Given the description of an element on the screen output the (x, y) to click on. 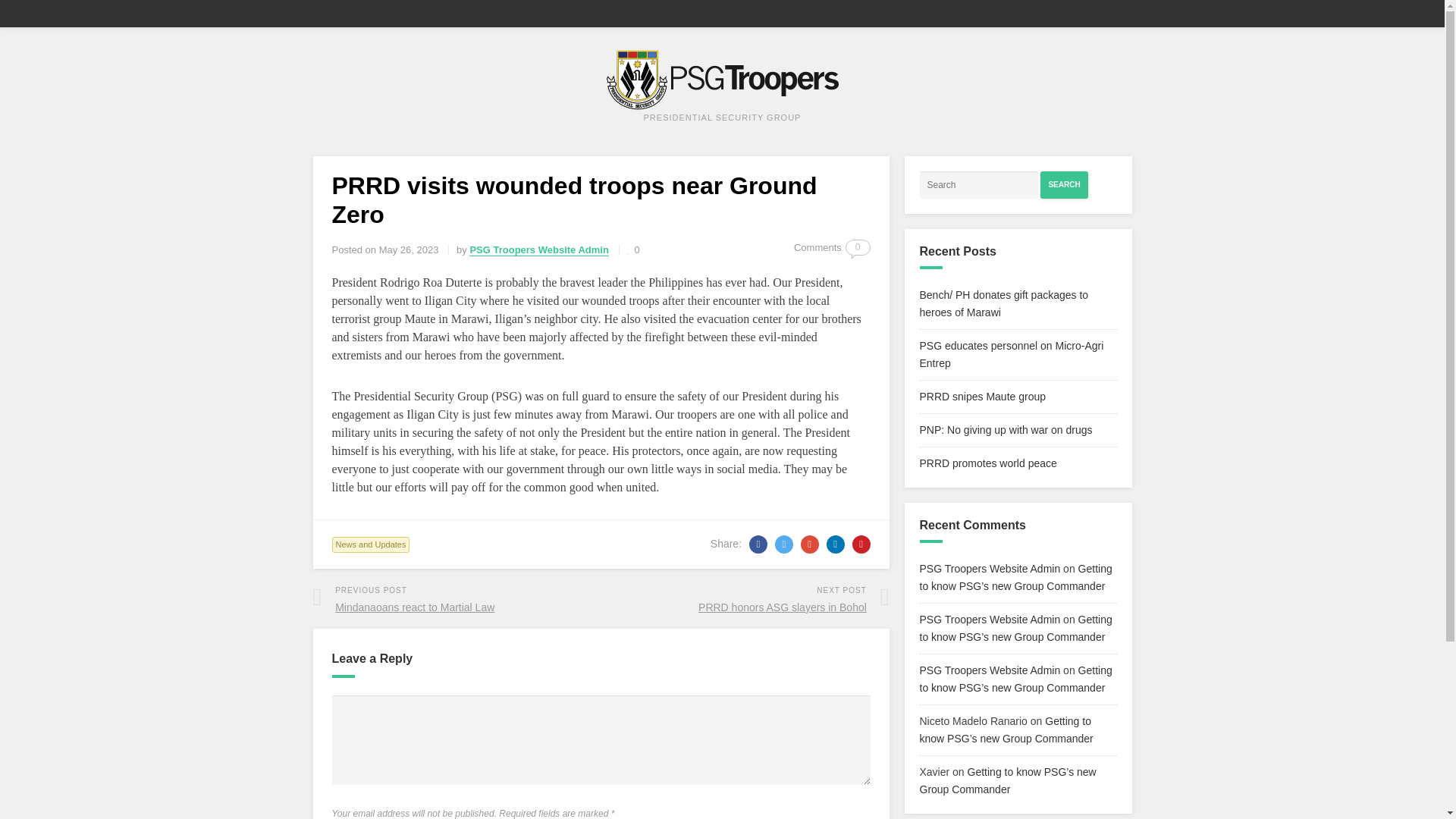
0 (453, 598)
PSG Troopers Website Admin (633, 249)
0 (988, 568)
SEARCH (857, 247)
PSG Troopers Website Admin (1064, 185)
Like this (988, 670)
PSG educates personnel on Micro-Agri Entrep (633, 249)
PRRD snipes Maute group (1010, 354)
PSG Troopers Website Admin (981, 396)
PSG Troopers Website Admin (538, 250)
News and Updates (988, 619)
PNP: No giving up with war on drugs (370, 544)
PRRD promotes world peace (1005, 429)
